Given the description of an element on the screen output the (x, y) to click on. 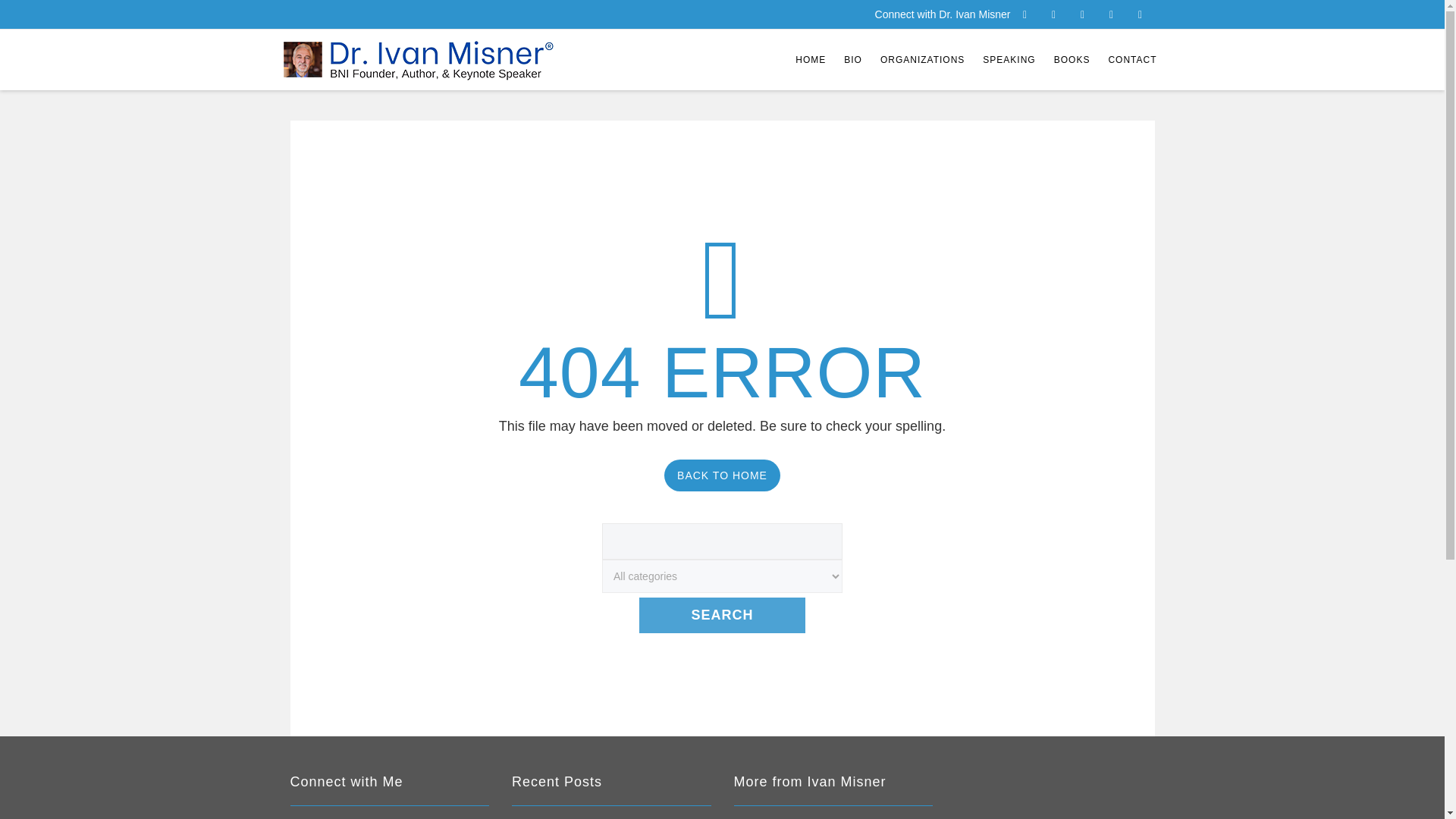
Search (722, 615)
SPEAKING (1008, 59)
BACK TO HOME (721, 475)
ORGANIZATIONS (922, 59)
Buy-Now-Button (833, 817)
CONTACT (1132, 59)
Search (722, 615)
Back to Home (721, 475)
BOOKS (1072, 59)
